Given the description of an element on the screen output the (x, y) to click on. 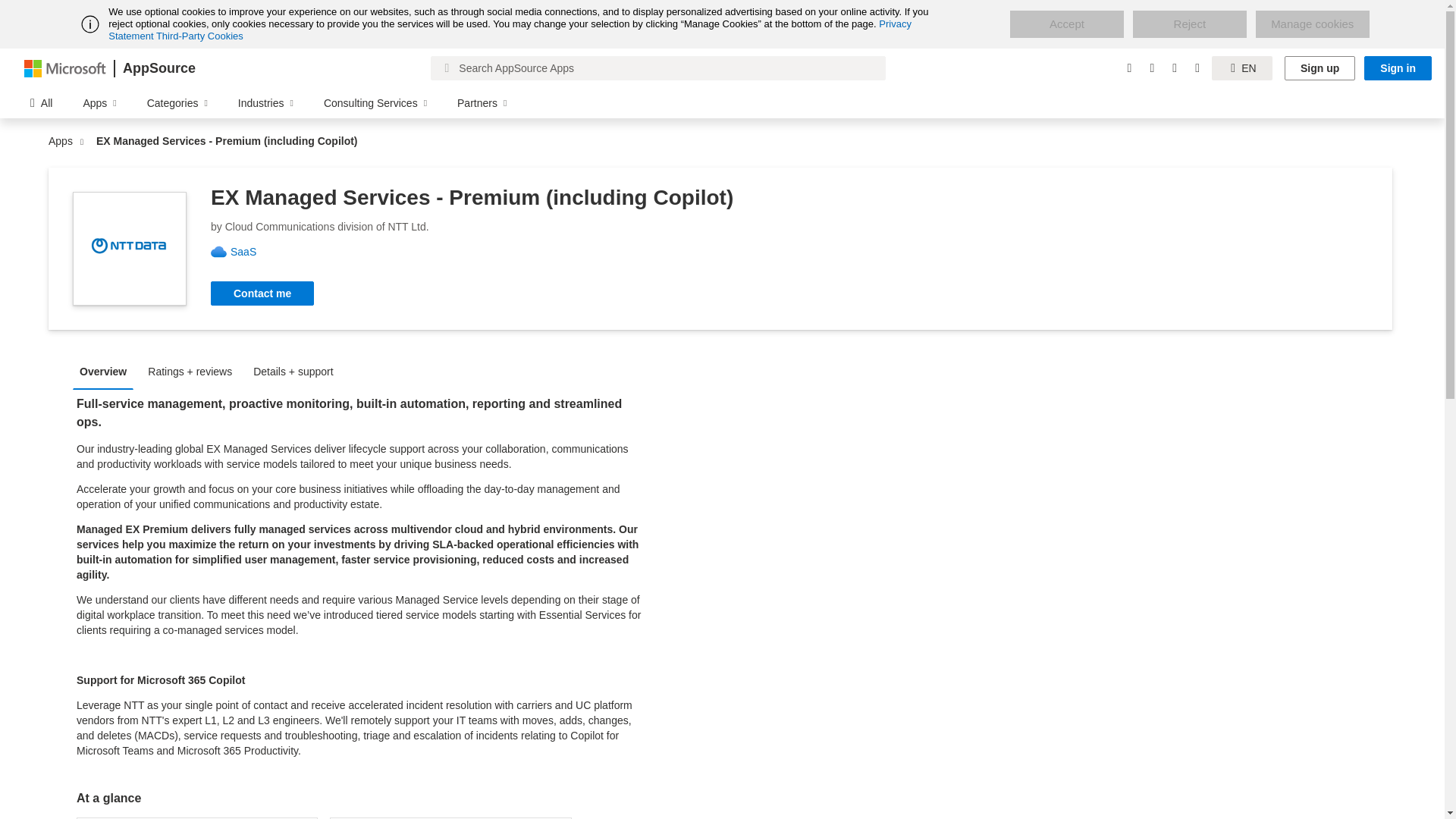
Sign up (1319, 68)
Third-Party Cookies (199, 35)
SaaS (248, 251)
Privacy Statement (509, 29)
Sign in (1397, 68)
Overview (106, 370)
Microsoft (65, 67)
Contact me (262, 293)
AppSource (158, 67)
Reject (1189, 23)
